Given the description of an element on the screen output the (x, y) to click on. 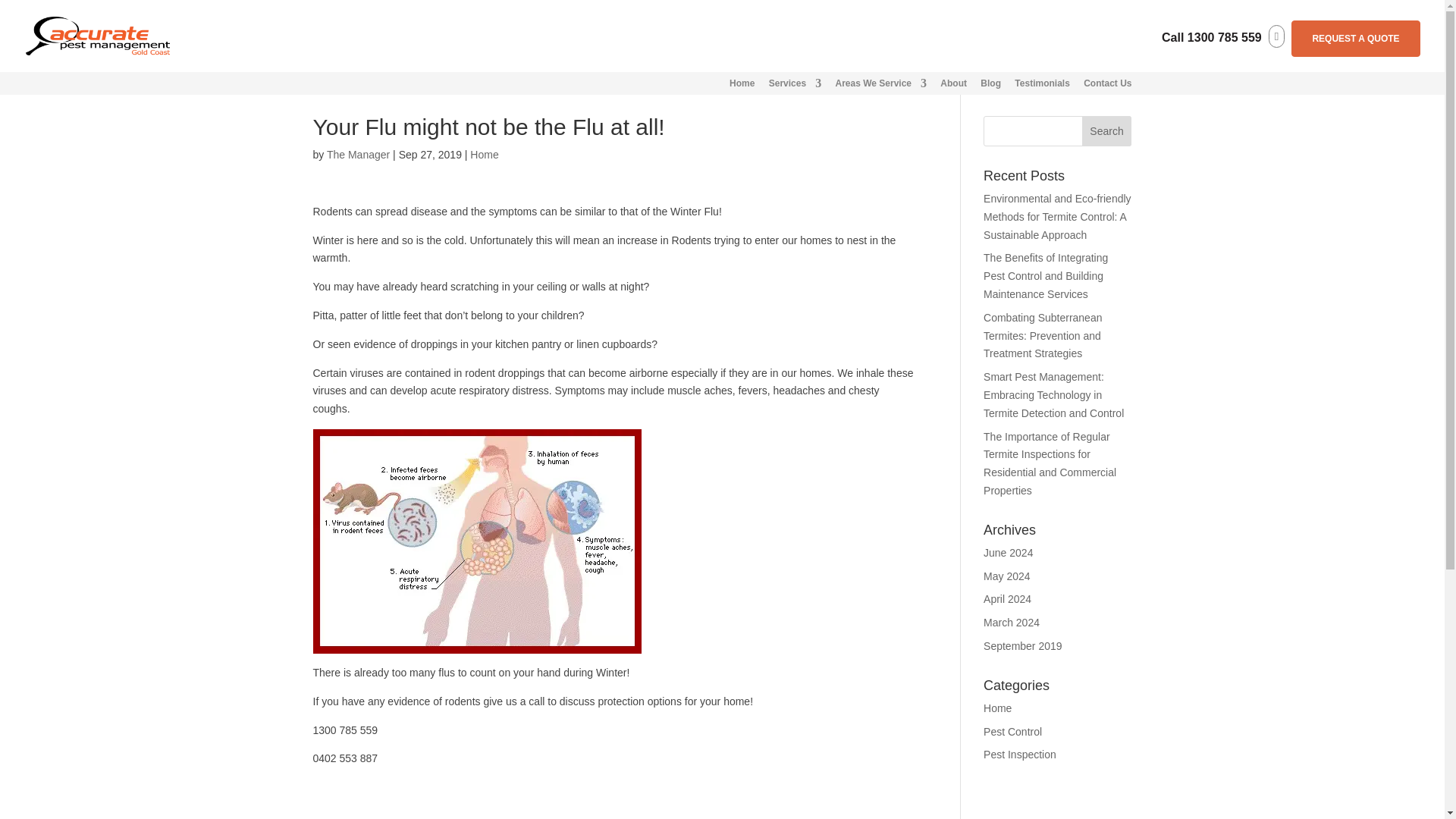
REQUEST A QUOTE (1356, 38)
Home (741, 86)
About (953, 86)
Call 1300 785 559 (1211, 37)
Contact Us (1107, 86)
Services (794, 86)
Blog (990, 86)
Testimonials (1041, 86)
Search (1106, 131)
Areas We Service (880, 86)
